Given the description of an element on the screen output the (x, y) to click on. 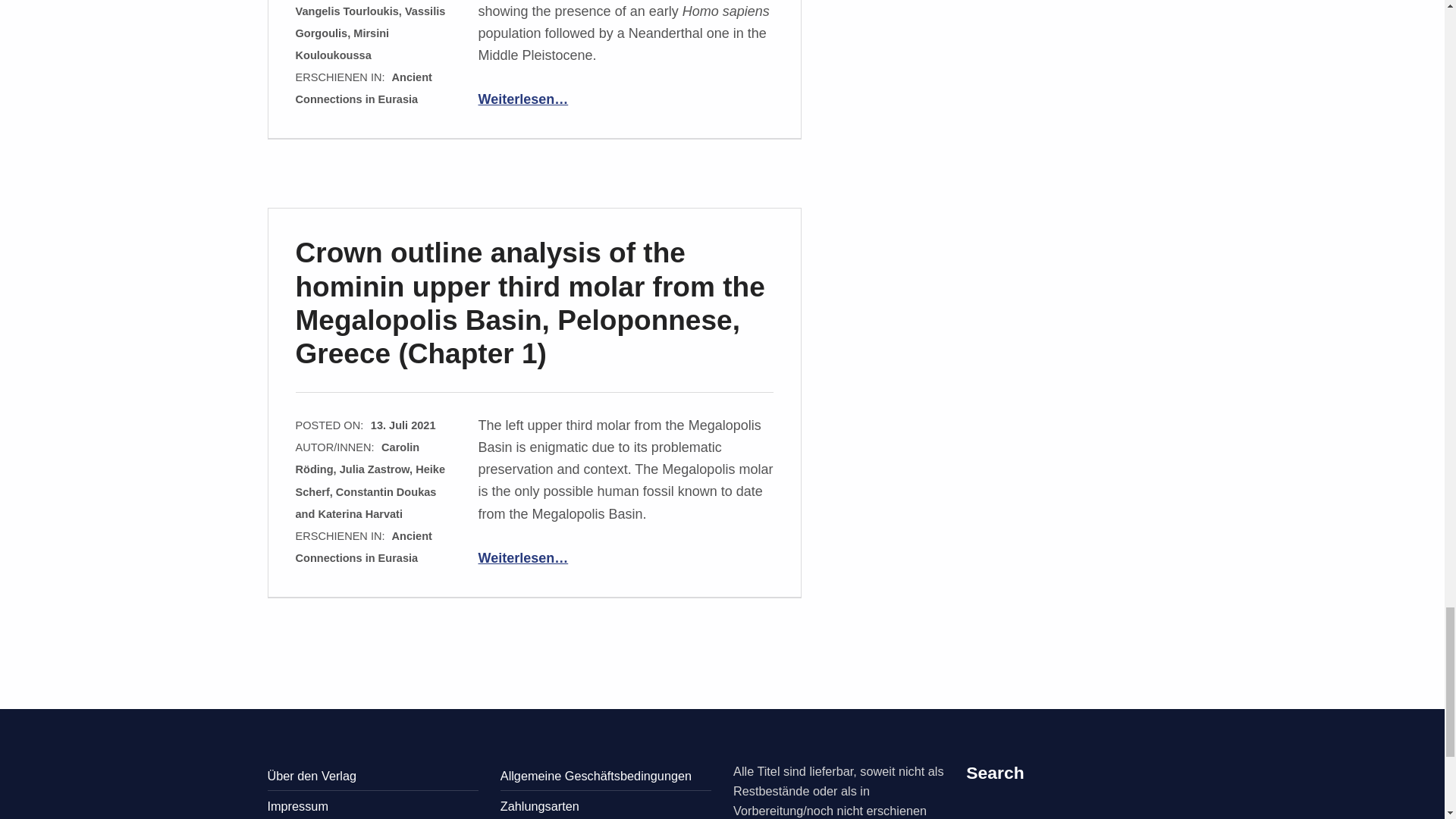
Posted on: 13. Juli 2021 (403, 425)
